Given the description of an element on the screen output the (x, y) to click on. 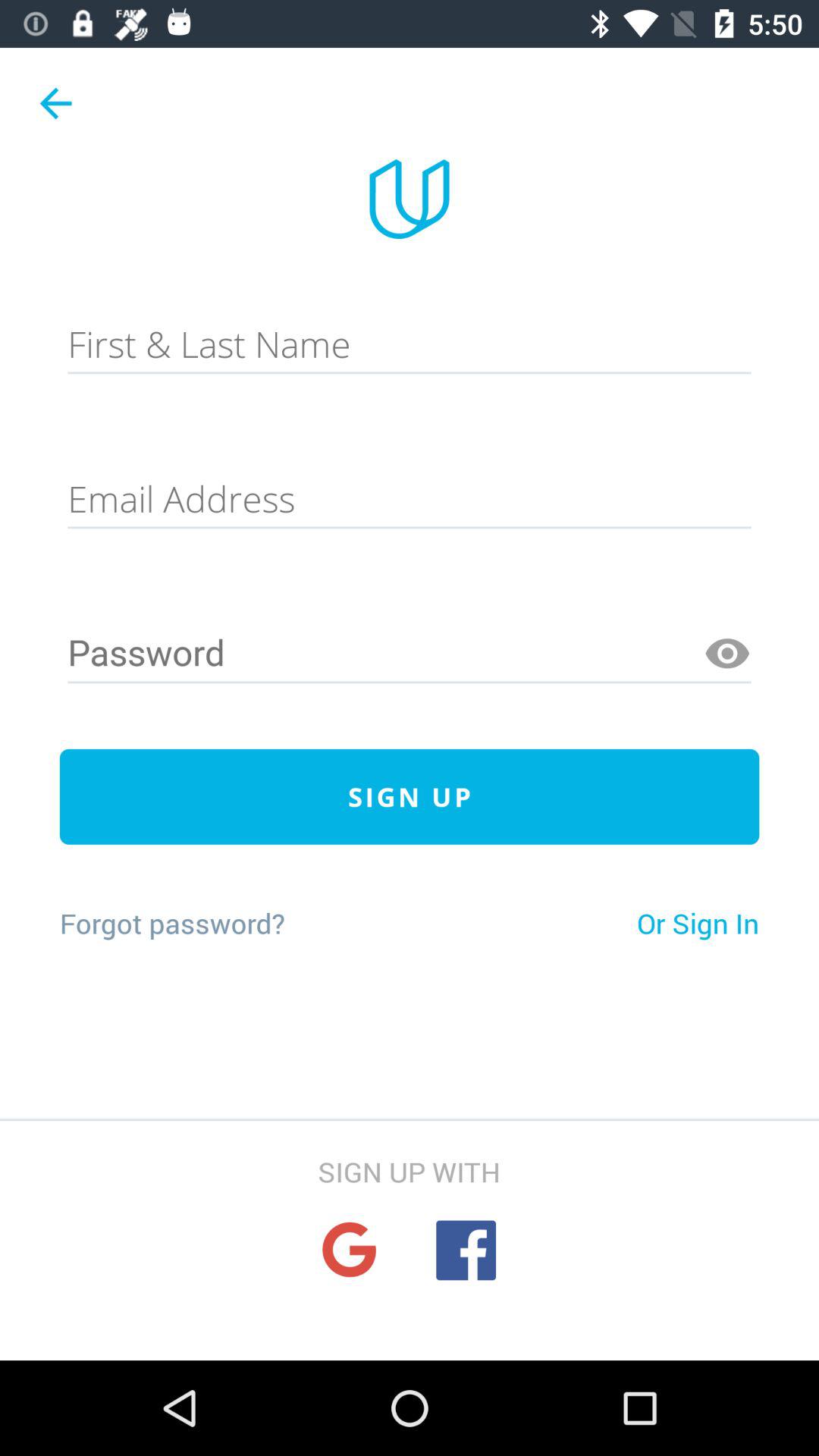
enter password (409, 653)
